Given the description of an element on the screen output the (x, y) to click on. 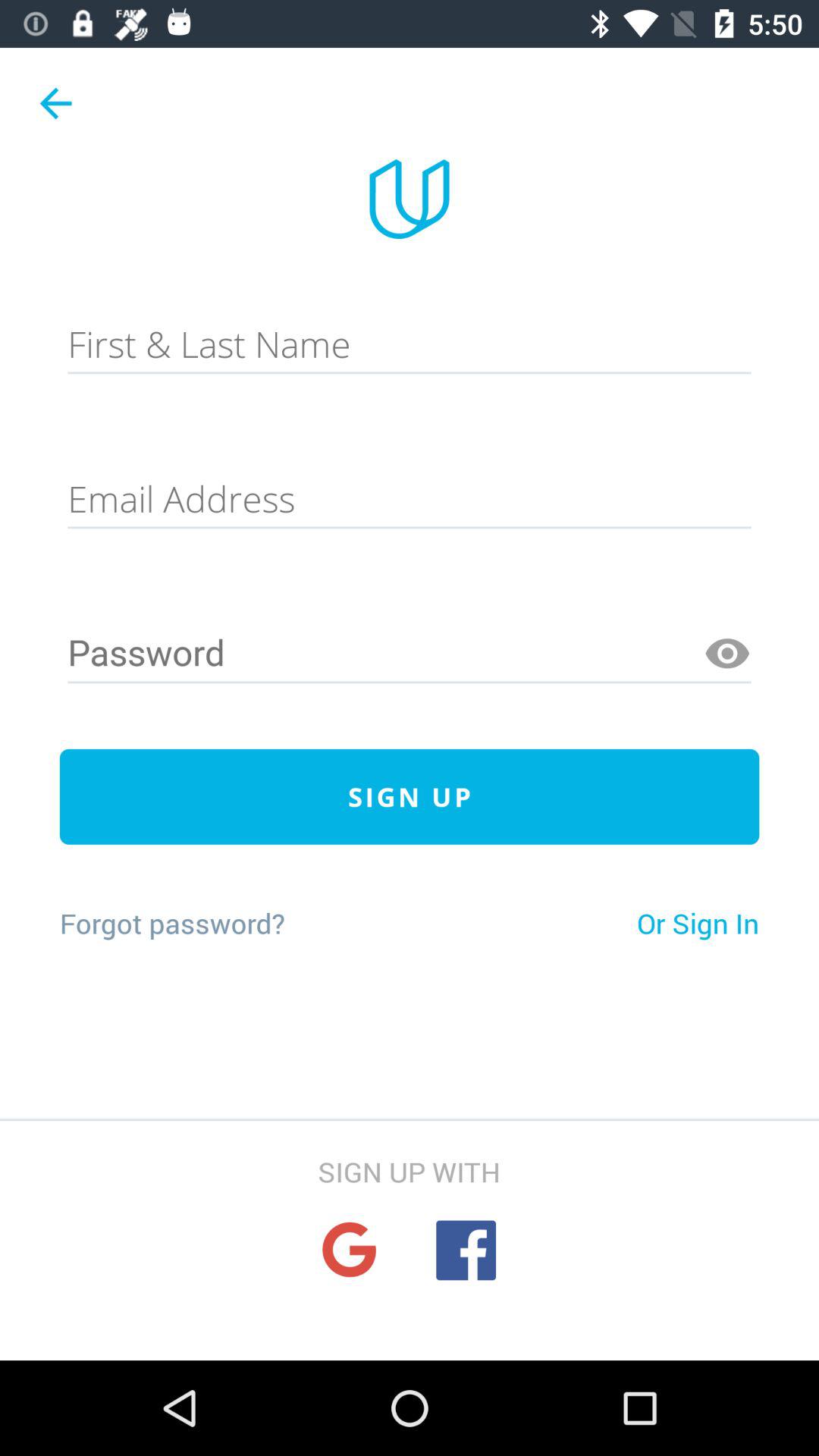
enter password (409, 653)
